Given the description of an element on the screen output the (x, y) to click on. 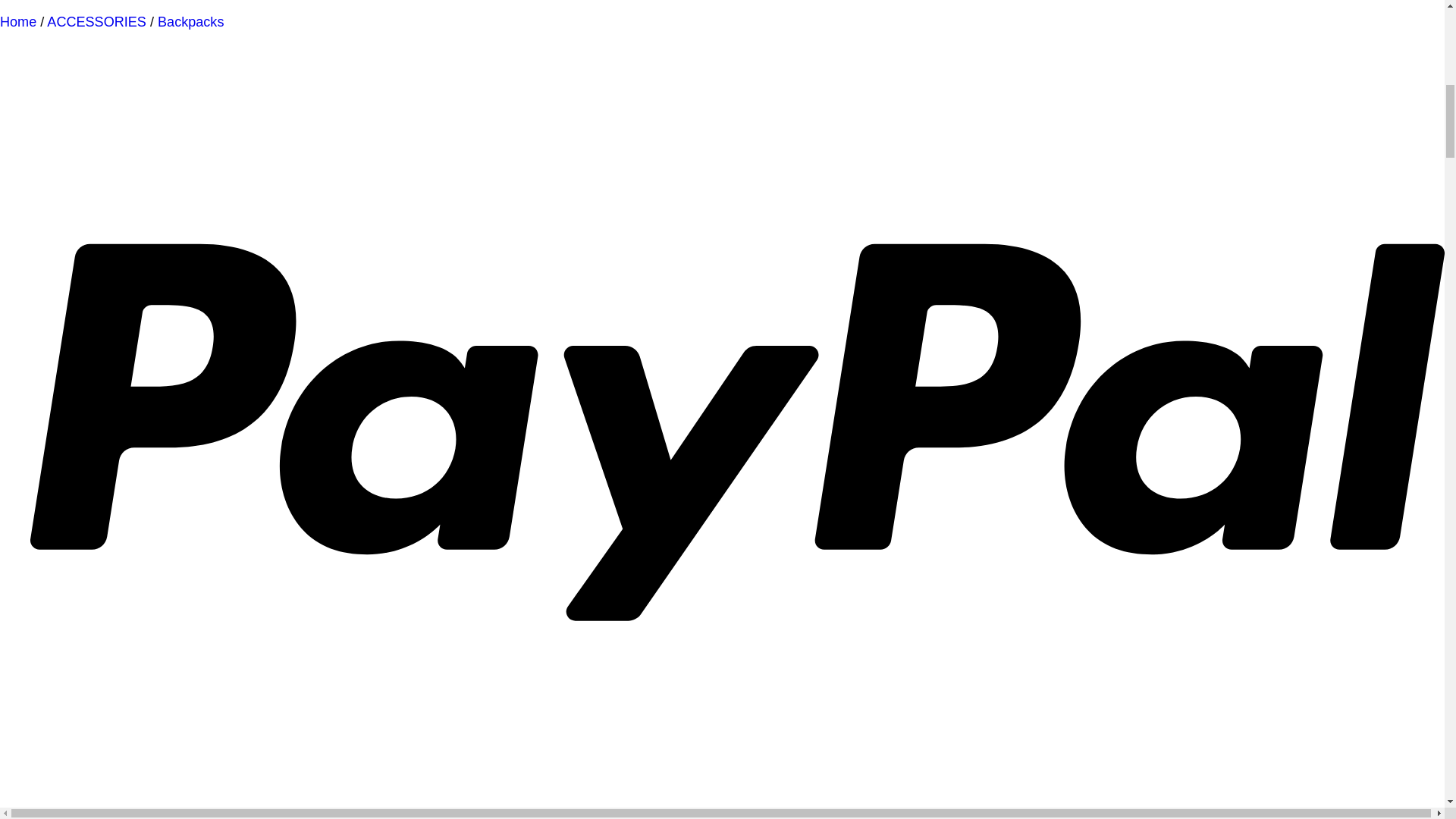
Backpacks (190, 21)
ACCESSORIES (96, 21)
Home (18, 21)
